Given the description of an element on the screen output the (x, y) to click on. 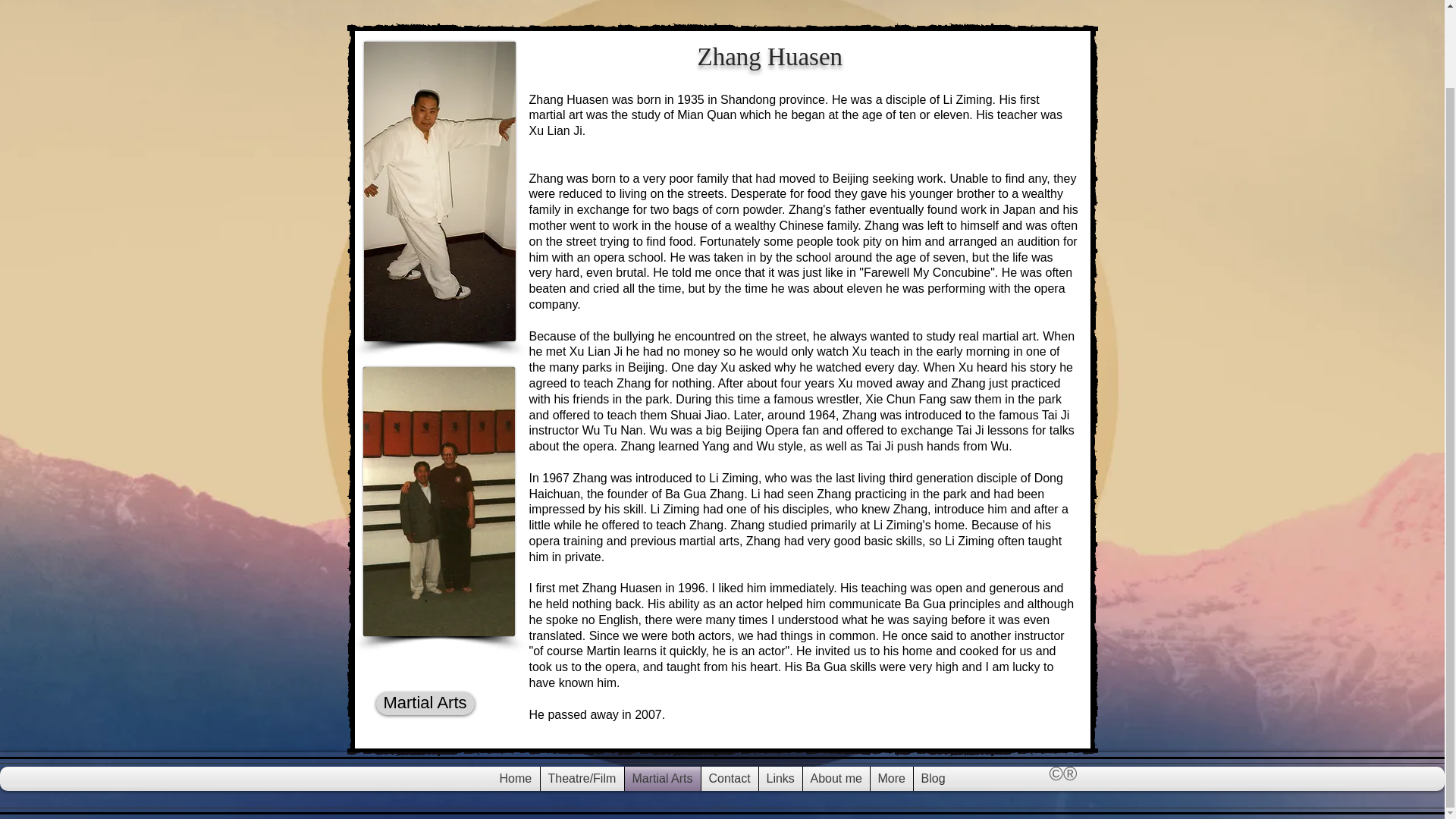
Martial Arts (662, 778)
About me (835, 778)
Contact (728, 778)
More (891, 778)
Links (780, 778)
Webmaster Login (1247, 770)
Martial Arts (424, 703)
Blog (932, 778)
Home (515, 778)
